Given the description of an element on the screen output the (x, y) to click on. 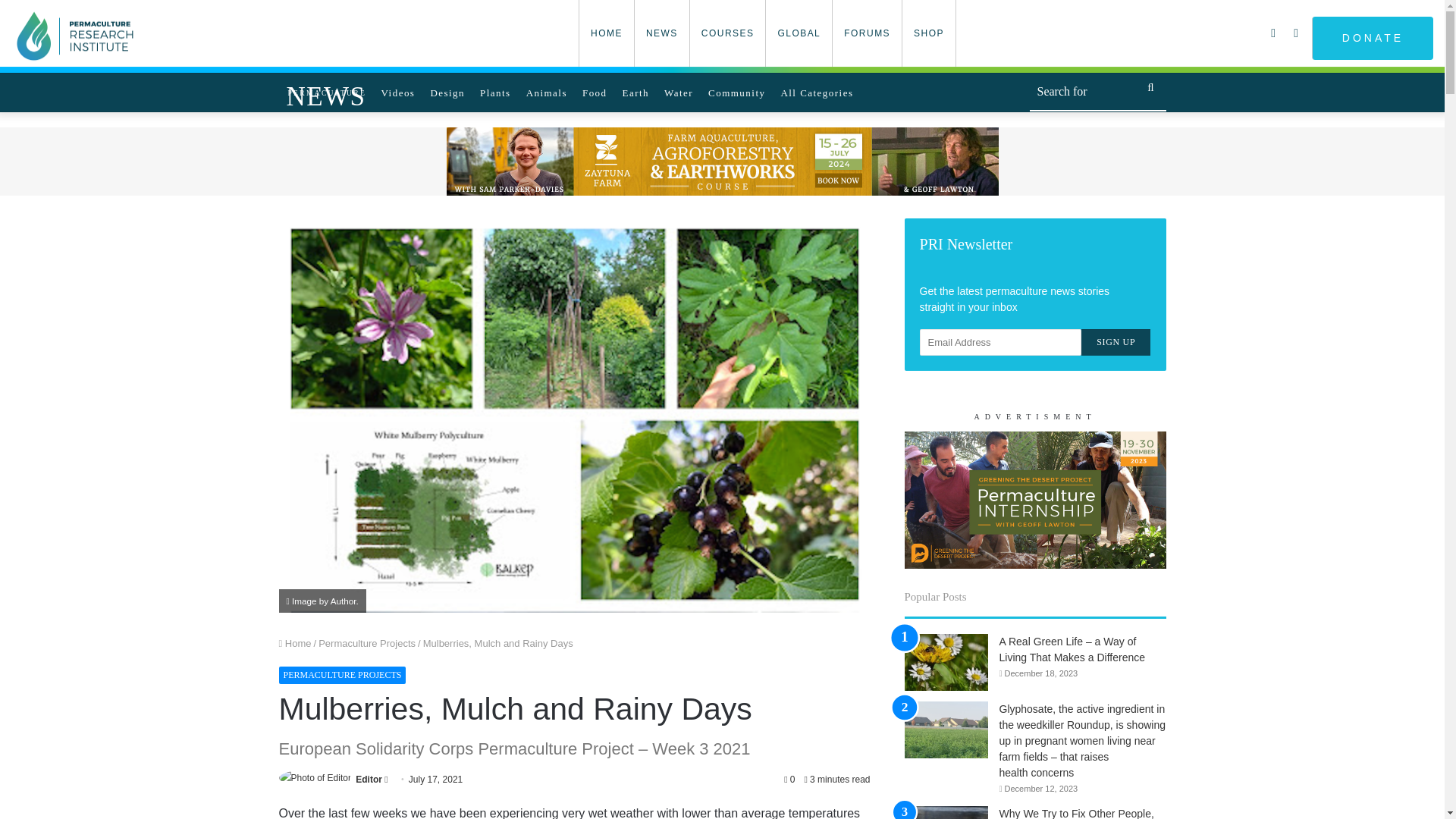
Search for (1097, 92)
GLOBAL (798, 33)
COURSES (726, 33)
Design (446, 91)
Food (594, 91)
DONATE (1371, 37)
PERMACULTURE PROJECTS (342, 674)
Plants (494, 91)
Videos (398, 91)
All Categories (816, 91)
View your shopping cart (1273, 33)
Community (736, 91)
Search for (1150, 86)
SHOP (928, 33)
